Given the description of an element on the screen output the (x, y) to click on. 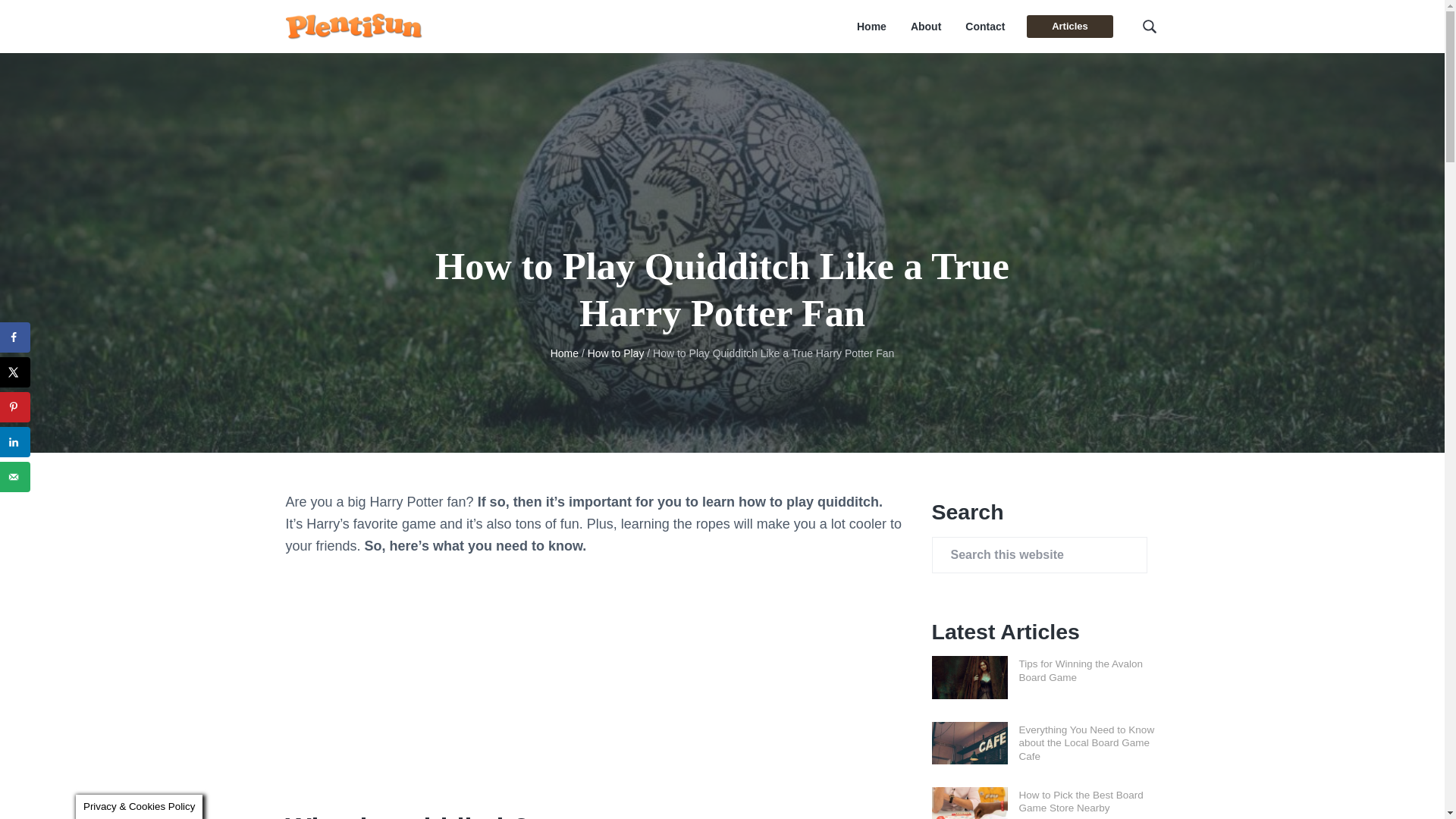
About (925, 27)
Share on X (15, 372)
Articles (1068, 25)
Home (871, 27)
Home (564, 353)
Contact (984, 27)
How to Play (616, 353)
Search (60, 18)
Save to Pinterest (15, 407)
Share on Facebook (15, 337)
